Given the description of an element on the screen output the (x, y) to click on. 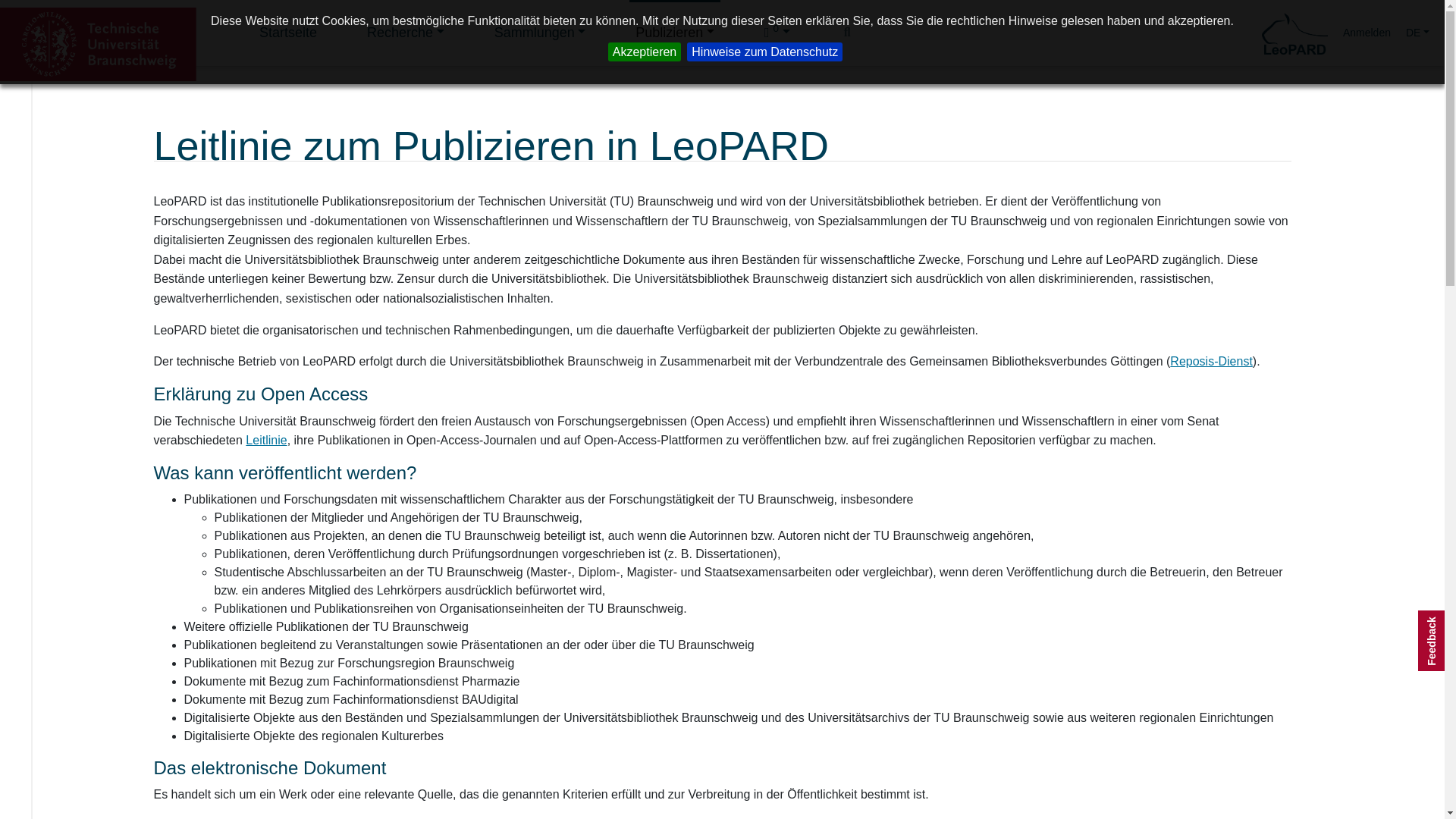
Leitlinie (266, 440)
Startseite (288, 33)
Reposis-Dienst (1211, 360)
zur Startseite der TU Braunschweig (98, 42)
Publizieren (674, 33)
Akzeptieren (644, 52)
Sammlungen (539, 33)
Hinweise zum Datenschutz (765, 52)
Recherche (405, 33)
